Given the description of an element on the screen output the (x, y) to click on. 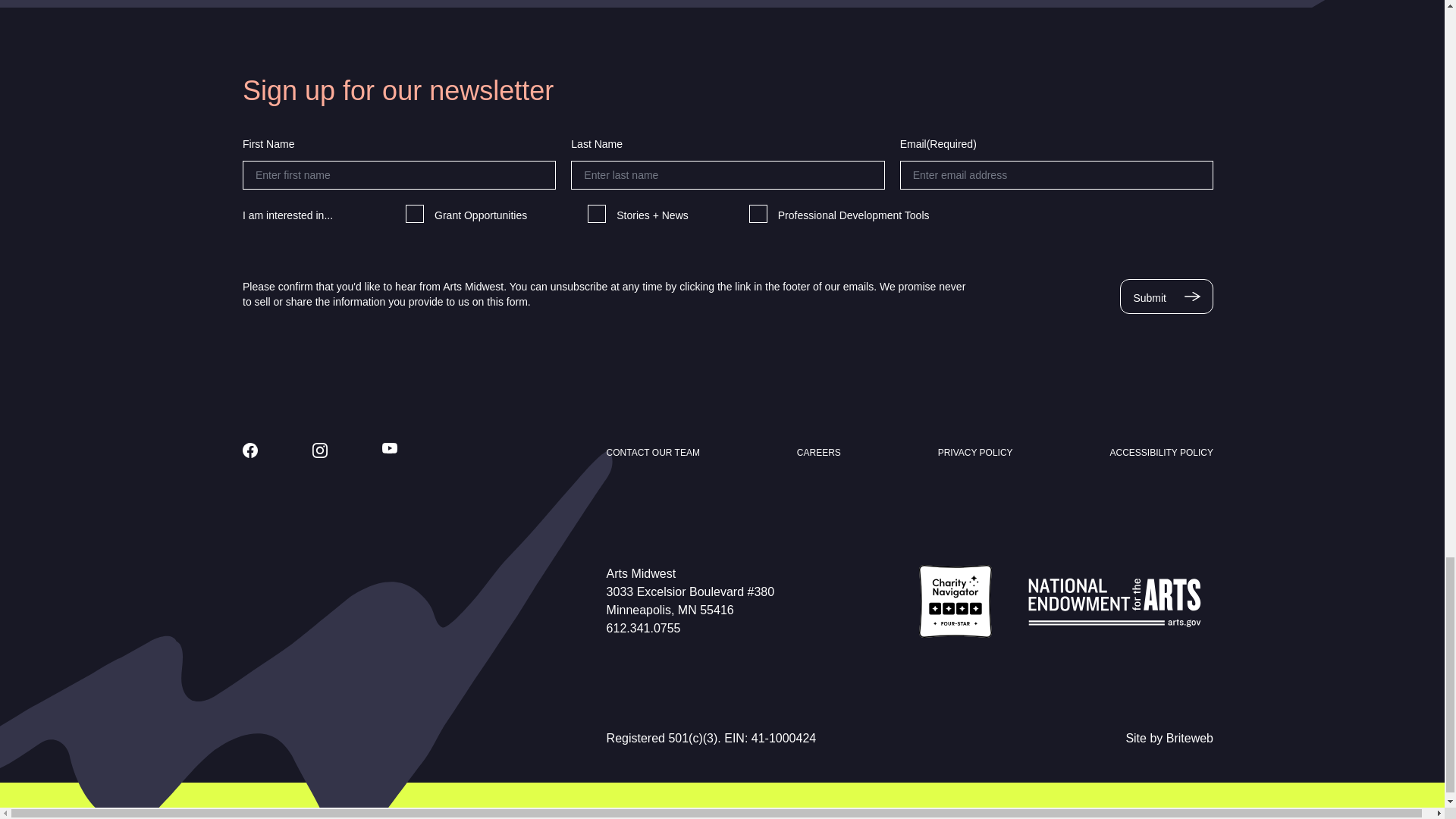
Follow us on Instagram (320, 450)
National Endowment for the Arts (1114, 601)
Grant Opportunities (414, 213)
Privacy Policy (975, 452)
Accessibility Policy (1160, 452)
Follow us on Facebook (250, 450)
Careers (818, 452)
Professional Development Tools (758, 213)
Arts Midwest on Charity Navigator (954, 601)
Follow us on Youtube (389, 448)
Contact Our Team (653, 452)
